Given the description of an element on the screen output the (x, y) to click on. 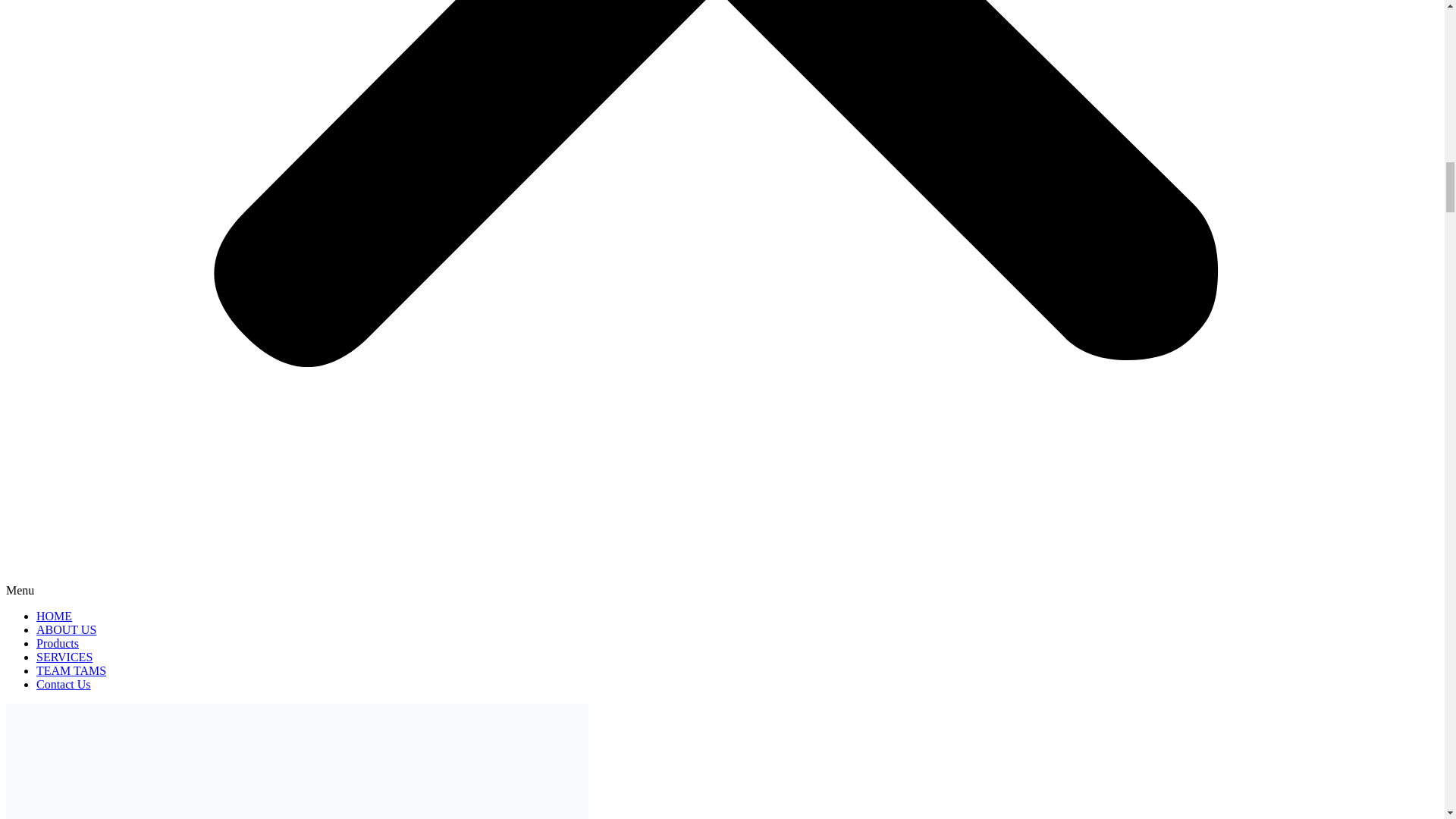
ABOUT US (66, 629)
Products (57, 643)
HOME (53, 615)
SERVICES (64, 656)
Contact Us (63, 684)
TEAM TAMS (71, 670)
